Given the description of an element on the screen output the (x, y) to click on. 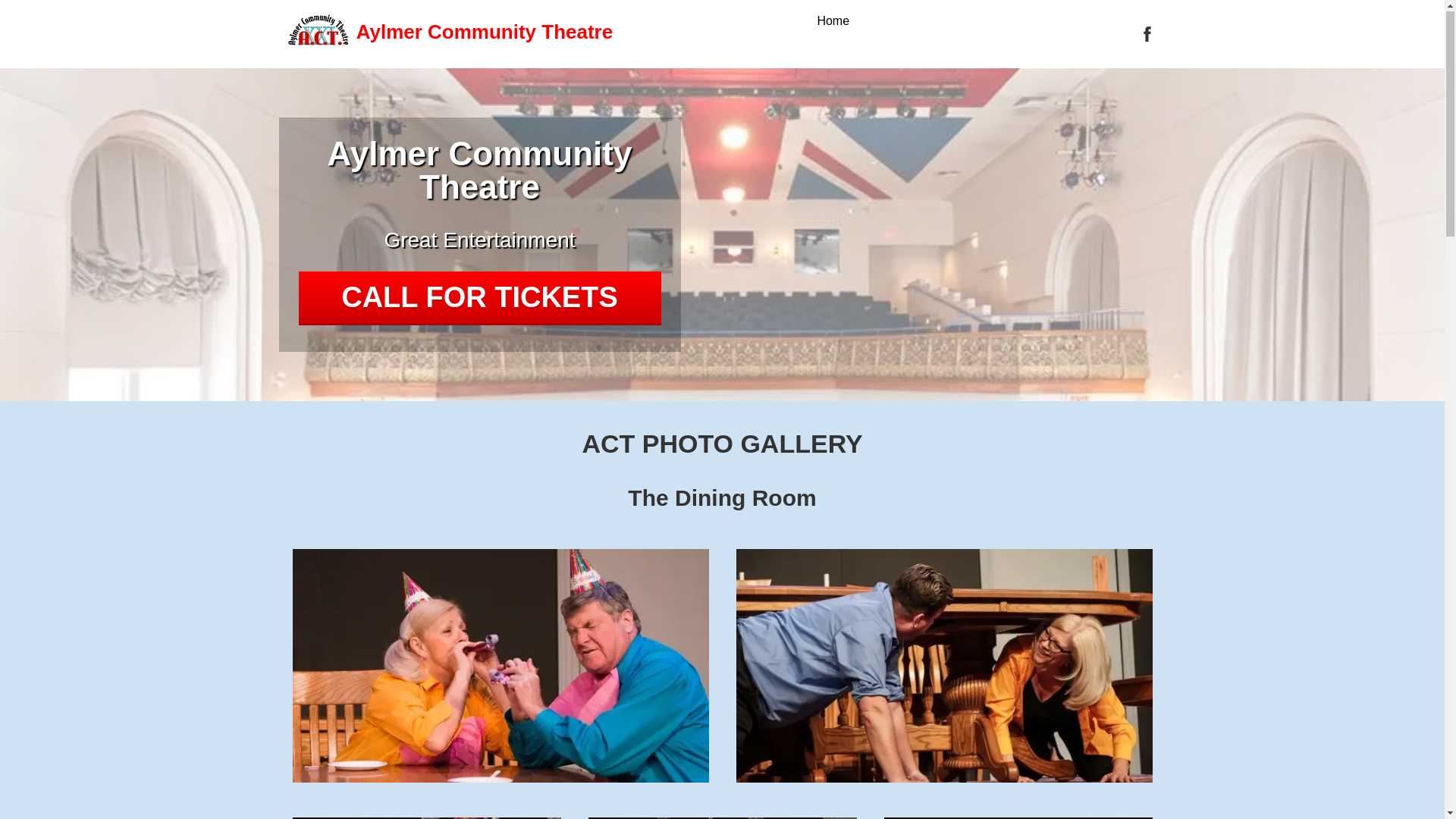
Home Element type: text (832, 21)
